Given the description of an element on the screen output the (x, y) to click on. 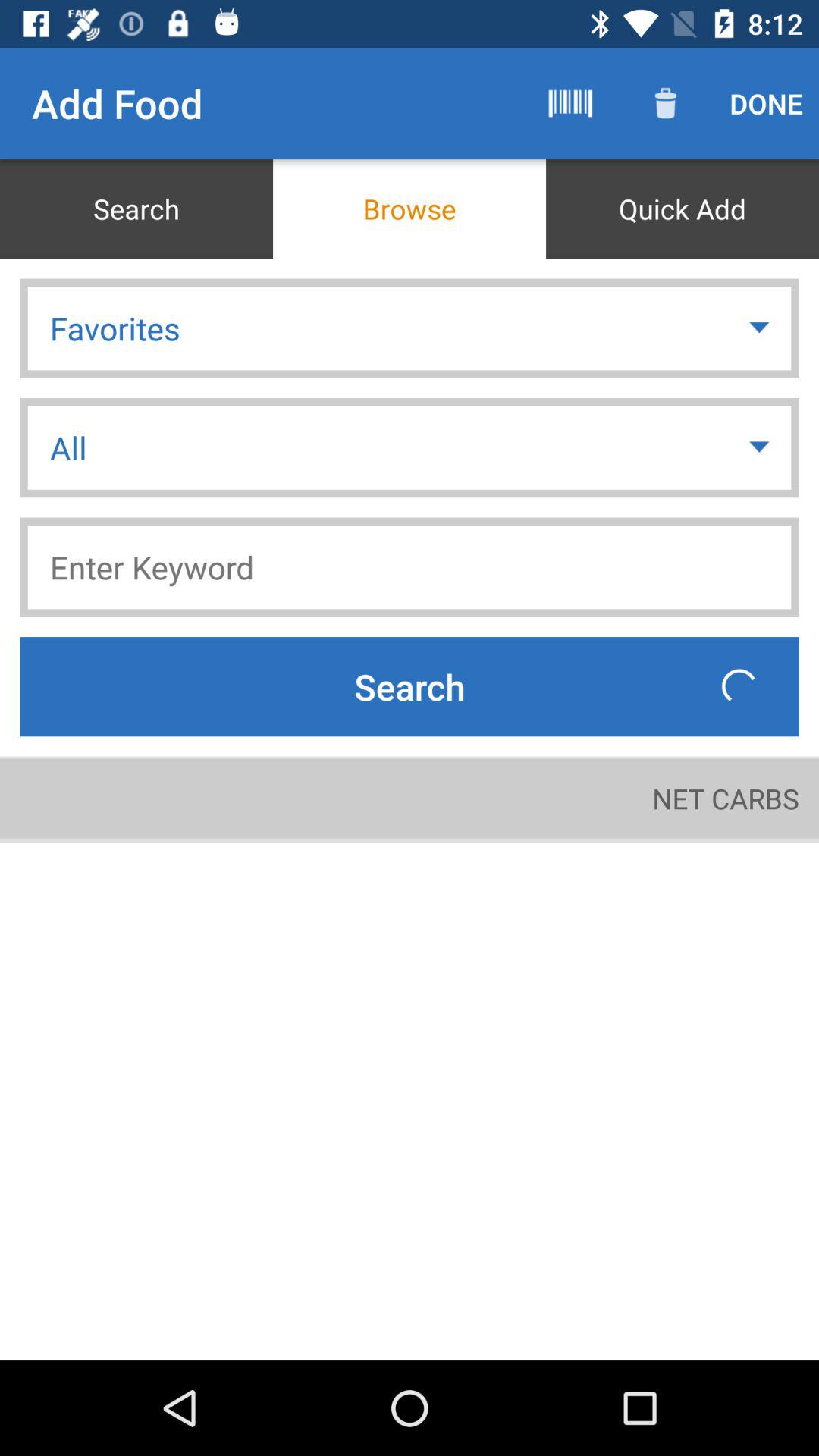
select item above the search icon (409, 567)
